Given the description of an element on the screen output the (x, y) to click on. 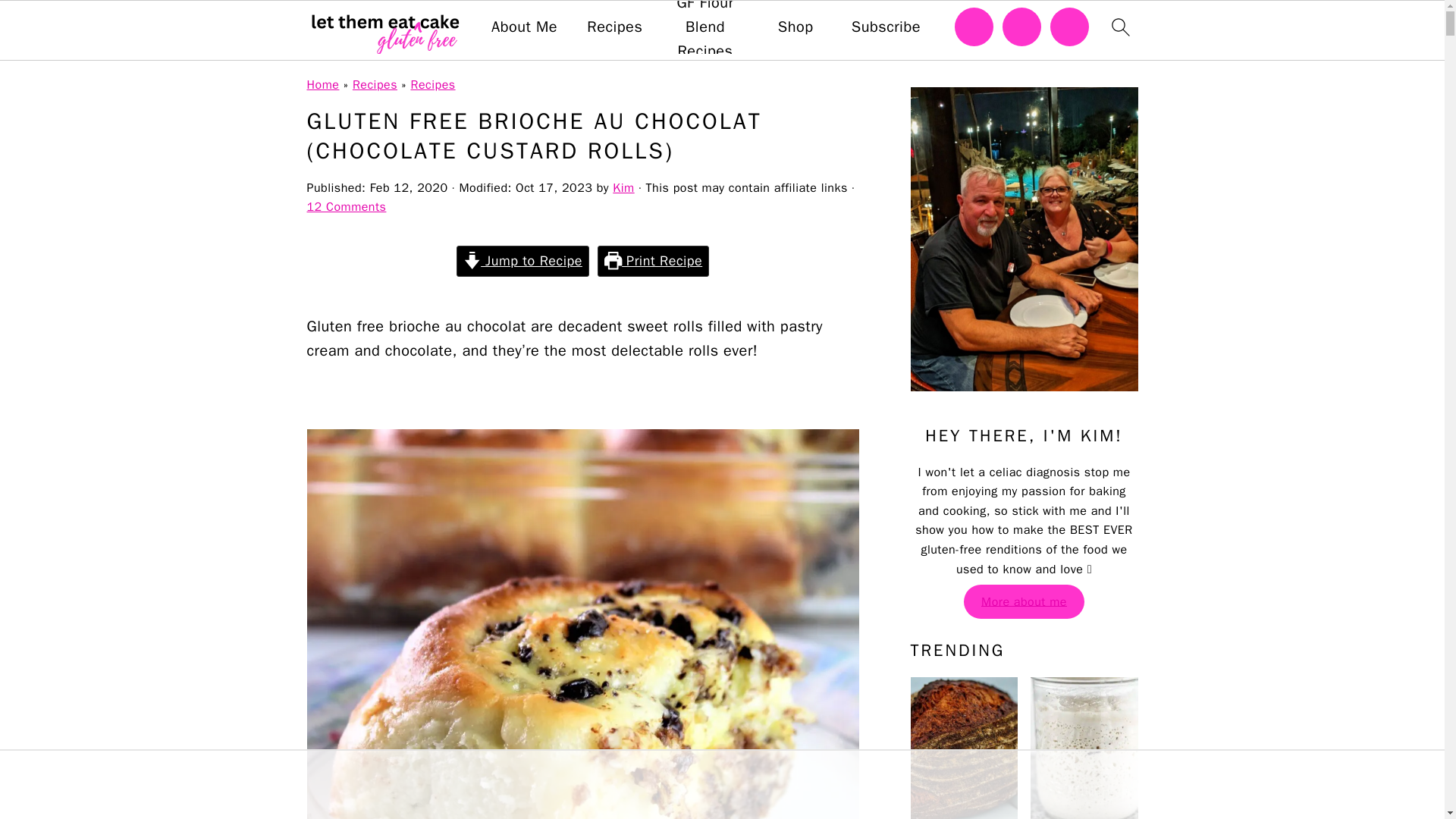
About Me (524, 27)
Print Recipe (652, 260)
Shop (795, 27)
Home (322, 84)
Recipes (432, 84)
search icon (1119, 26)
Recipes (374, 84)
Jump to Recipe (523, 260)
GF Flour Blend Recipes (705, 31)
